Given the description of an element on the screen output the (x, y) to click on. 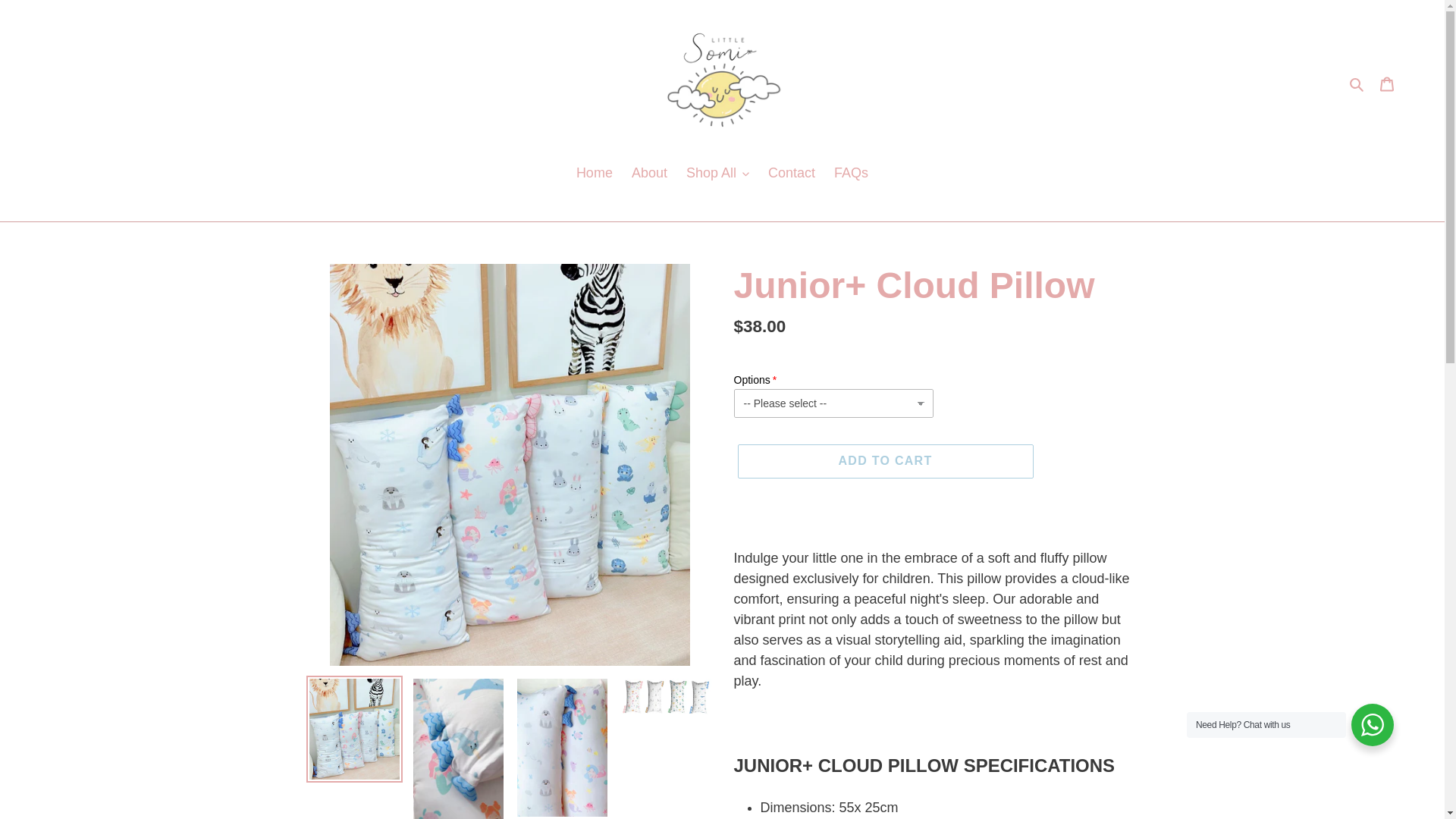
Contact (791, 173)
About (649, 173)
Shop All (717, 173)
Home (594, 173)
Search (1357, 83)
Cart (1387, 82)
FAQs (851, 173)
